Given the description of an element on the screen output the (x, y) to click on. 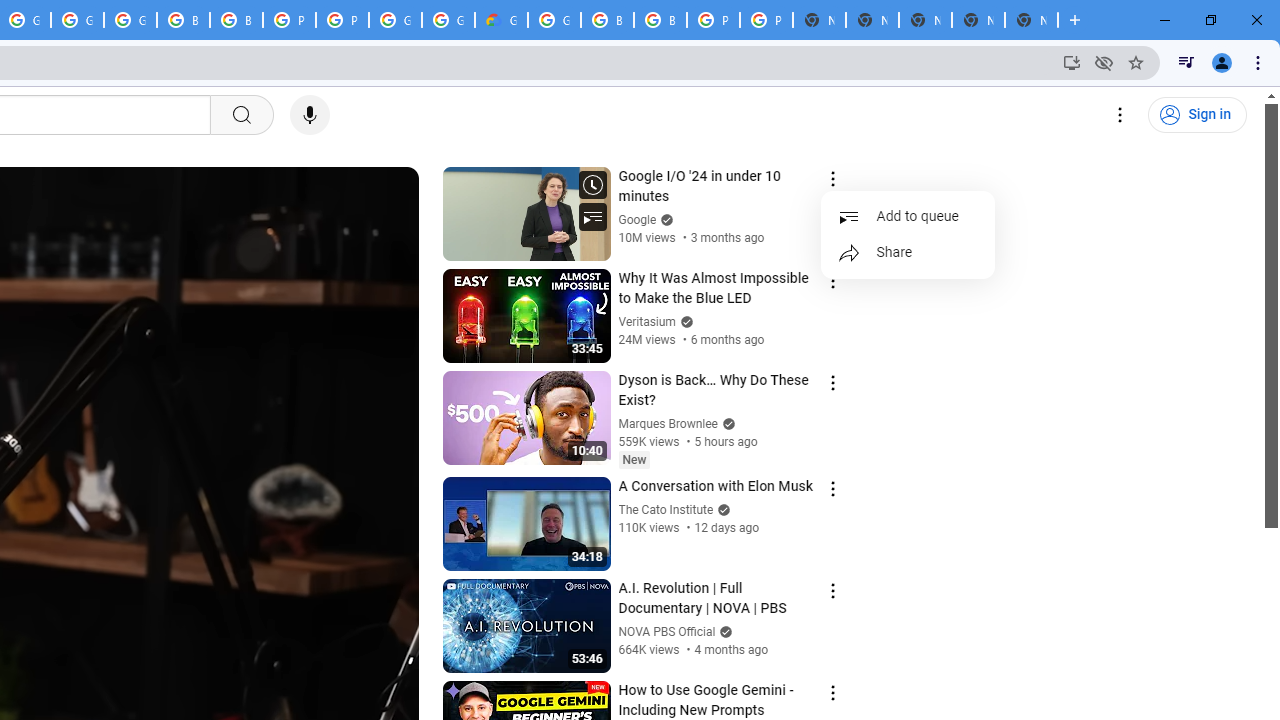
Google Cloud Platform (554, 20)
Add to queue (907, 216)
Verified (724, 631)
New Tab (1031, 20)
Share (907, 252)
